Given the description of an element on the screen output the (x, y) to click on. 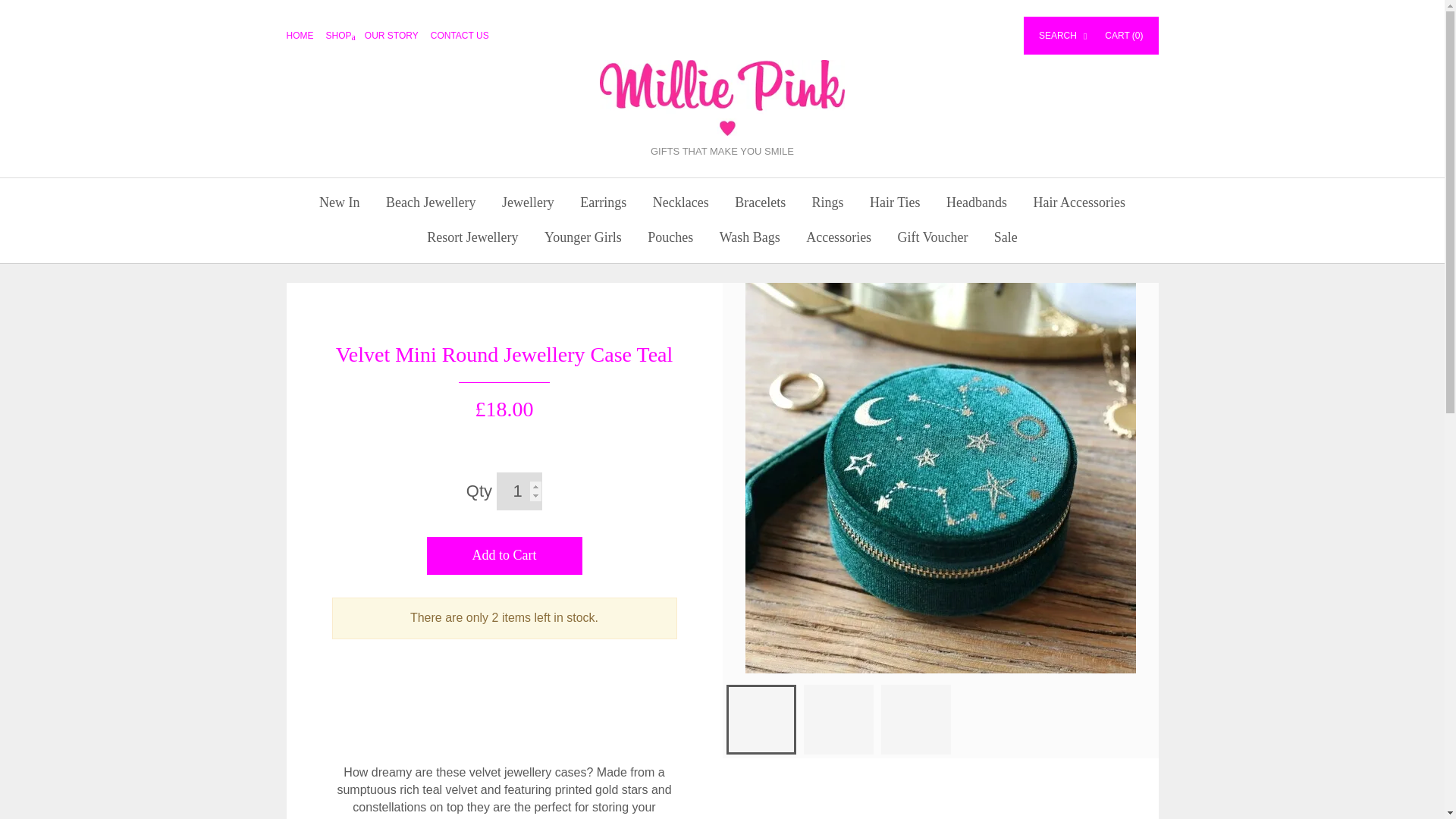
Add to Cart (503, 555)
1 (518, 491)
SHOP (345, 35)
HOME (306, 35)
